Given the description of an element on the screen output the (x, y) to click on. 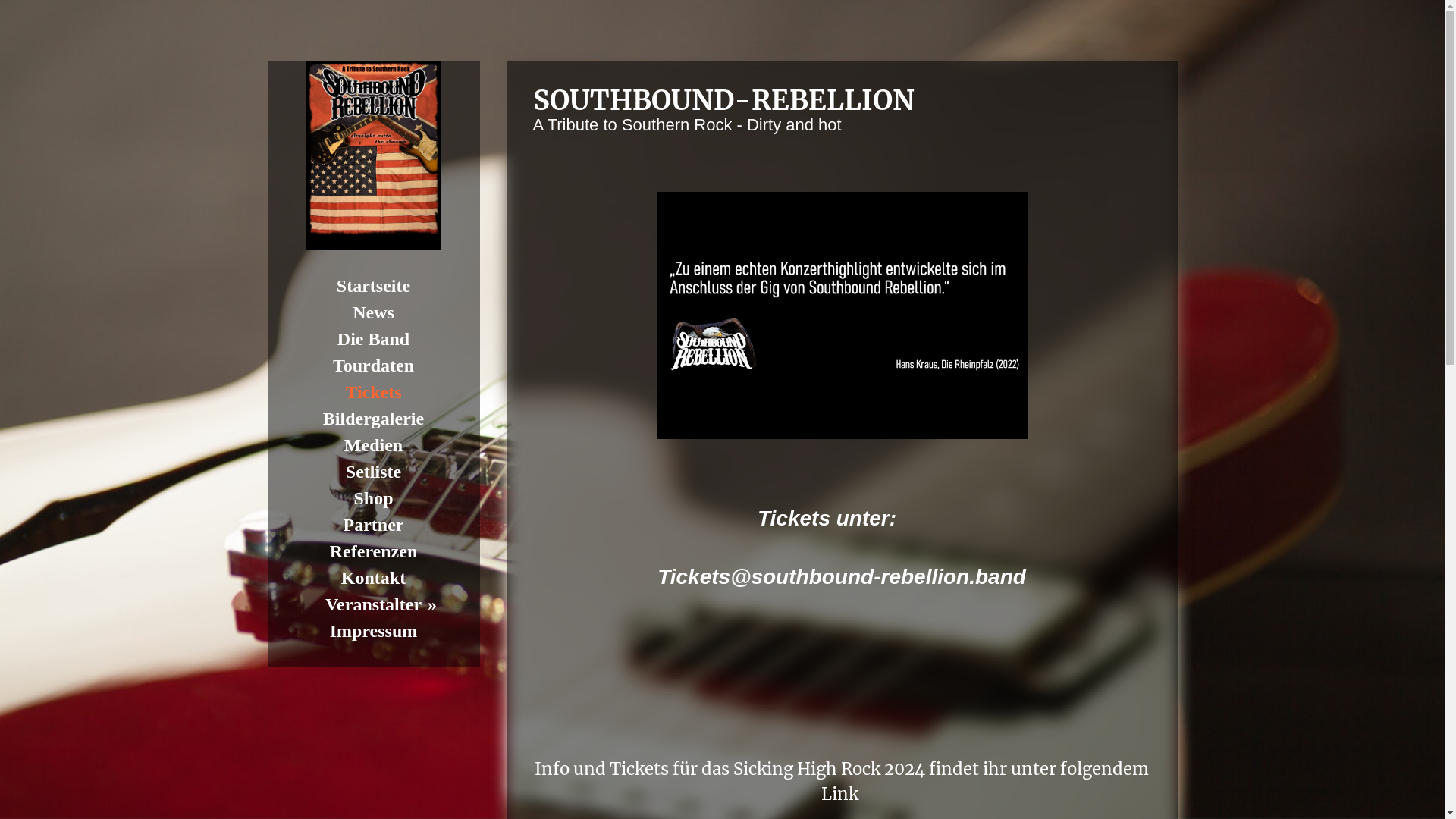
Die Band Element type: text (372, 339)
Bildergalerie Element type: text (372, 418)
Startseite Element type: text (372, 286)
Referenzen Element type: text (372, 551)
Tickets Element type: text (372, 392)
Shop Element type: text (372, 498)
Impressum Element type: text (372, 631)
Partner Element type: text (372, 524)
Veranstalter Element type: text (372, 604)
News Element type: text (372, 312)
Setliste Element type: text (372, 471)
Tourdaten Element type: text (372, 365)
Kontakt Element type: text (372, 577)
Medien Element type: text (372, 445)
